Given the description of an element on the screen output the (x, y) to click on. 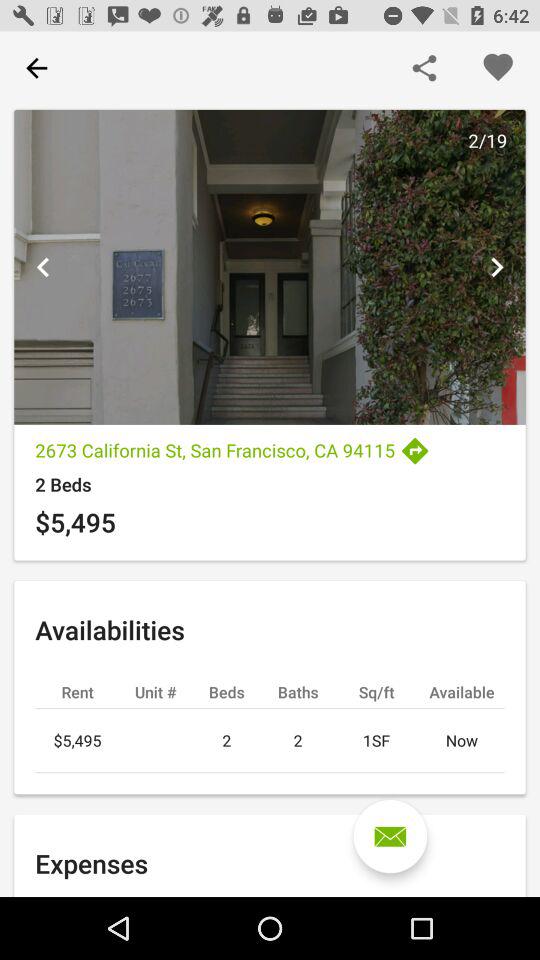
click item to the right of expenses icon (389, 836)
